Given the description of an element on the screen output the (x, y) to click on. 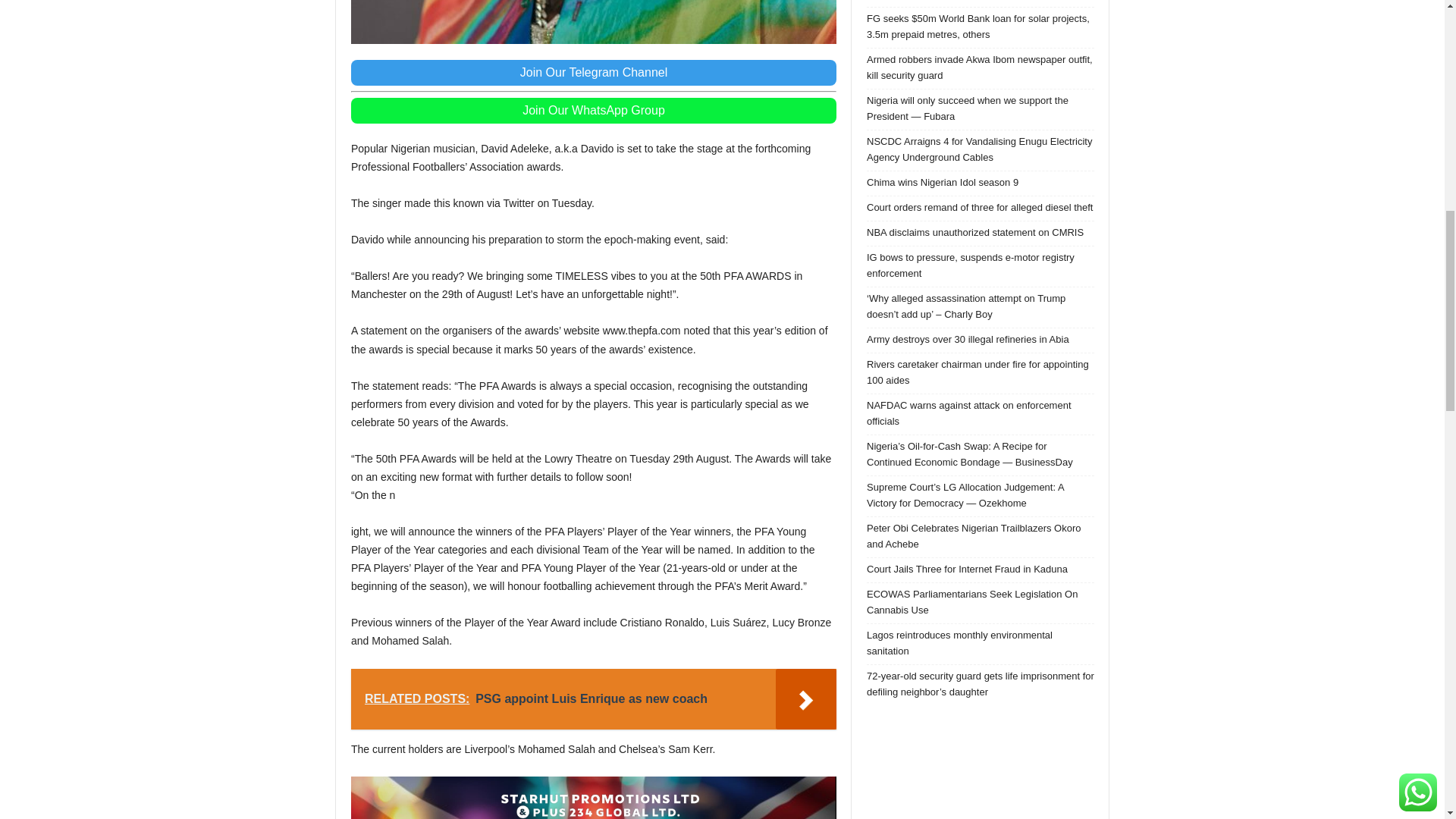
Davido to perform at Footballers' Association awards (592, 22)
